Given the description of an element on the screen output the (x, y) to click on. 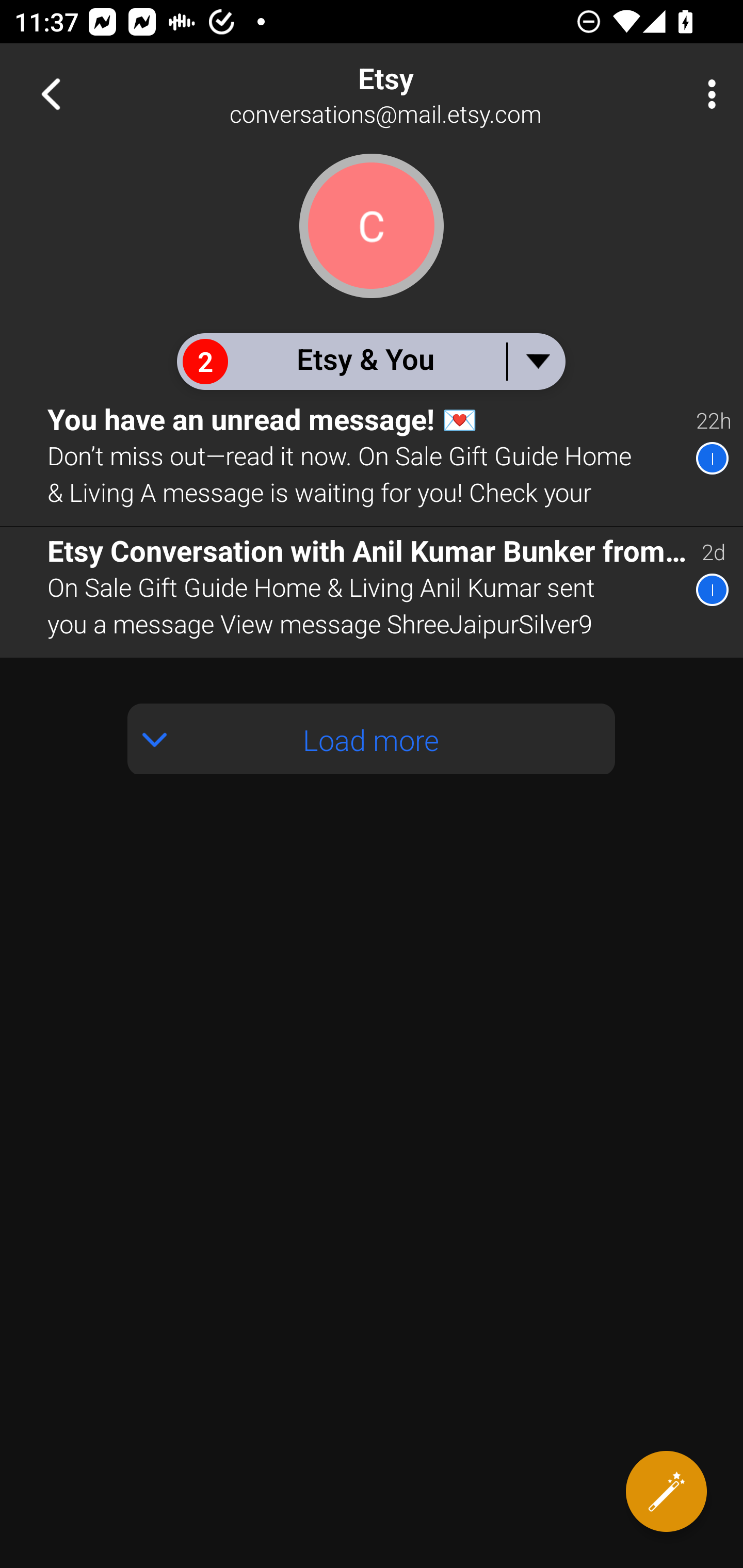
Navigate up (50, 93)
Etsy conversations@mail.etsy.com (436, 93)
More Options (706, 93)
2 Etsy & You (370, 361)
Load more (371, 739)
